Given the description of an element on the screen output the (x, y) to click on. 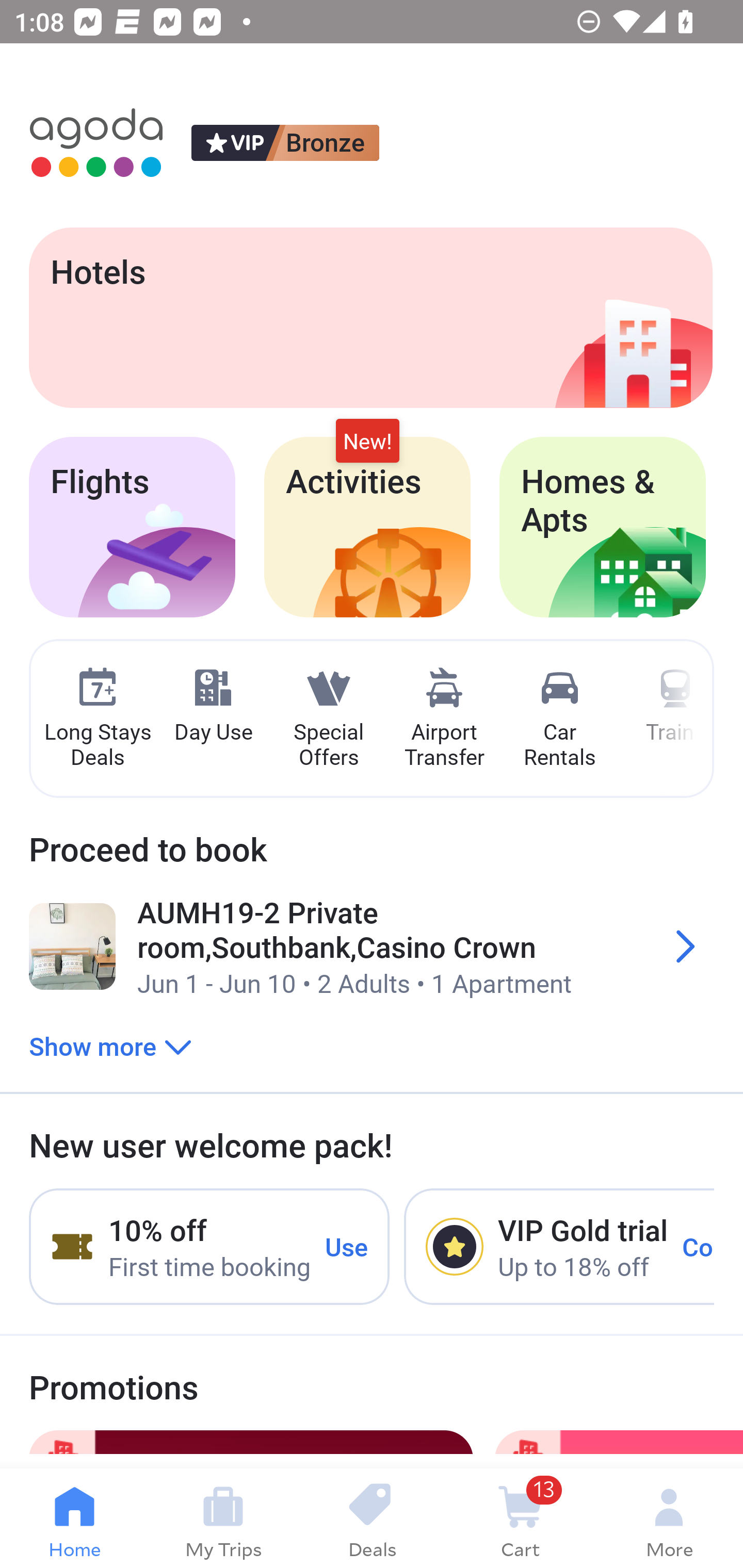
Hotels (370, 317)
New! (367, 441)
Flights (131, 527)
Activities (367, 527)
Homes & Apts (602, 527)
Day Use (213, 706)
Long Stays Deals (97, 718)
Special Offers (328, 718)
Airport Transfer (444, 718)
Car Rentals (559, 718)
Show more (110, 1045)
Use (346, 1246)
Home (74, 1518)
My Trips (222, 1518)
Deals (371, 1518)
13 Cart (519, 1518)
More (668, 1518)
